Given the description of an element on the screen output the (x, y) to click on. 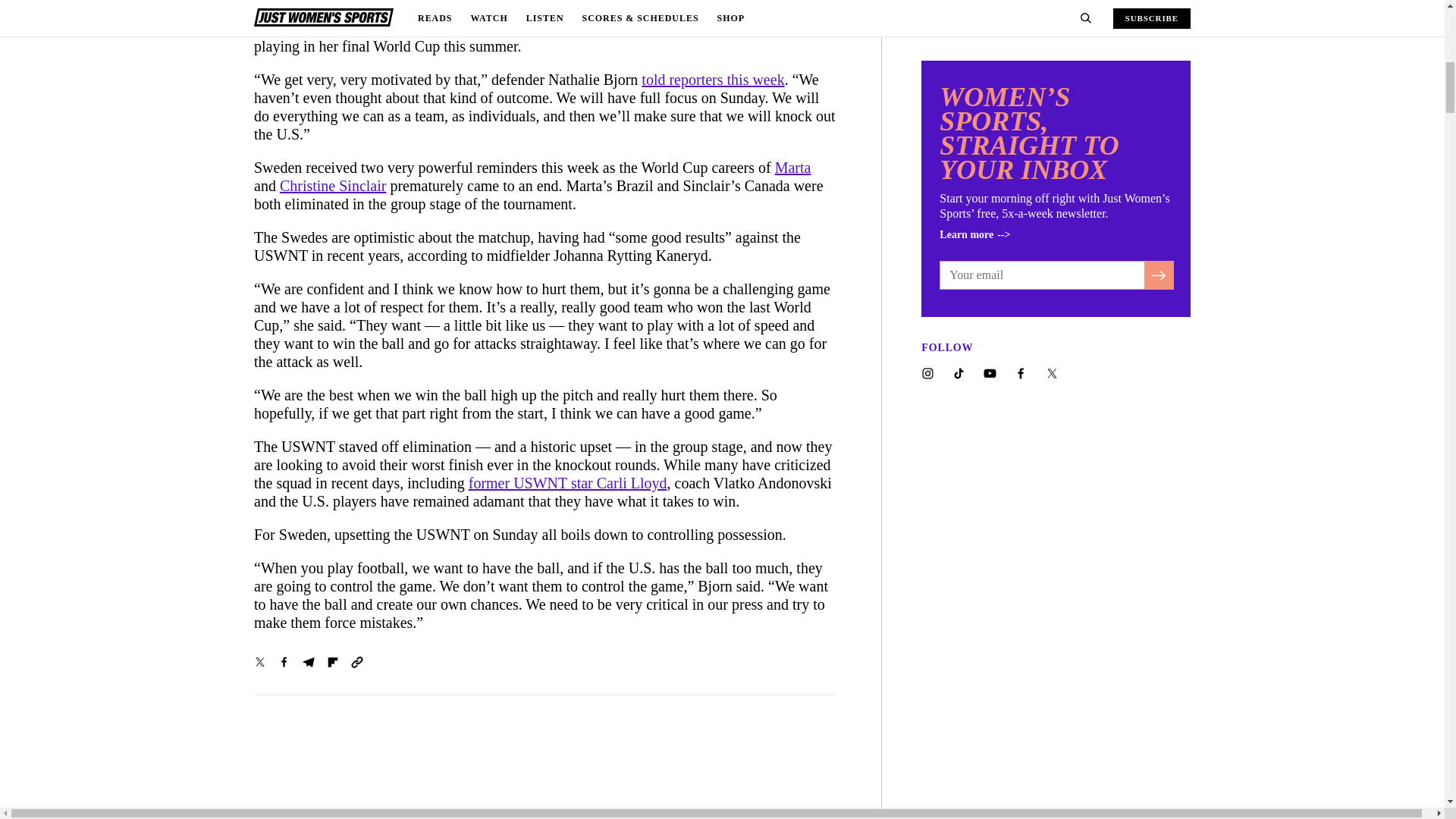
told reporters this week (713, 79)
won that game 3-0 (478, 9)
former USWNT star Carli Lloyd (567, 483)
Christine Sinclair (333, 185)
Marta (792, 167)
